Given the description of an element on the screen output the (x, y) to click on. 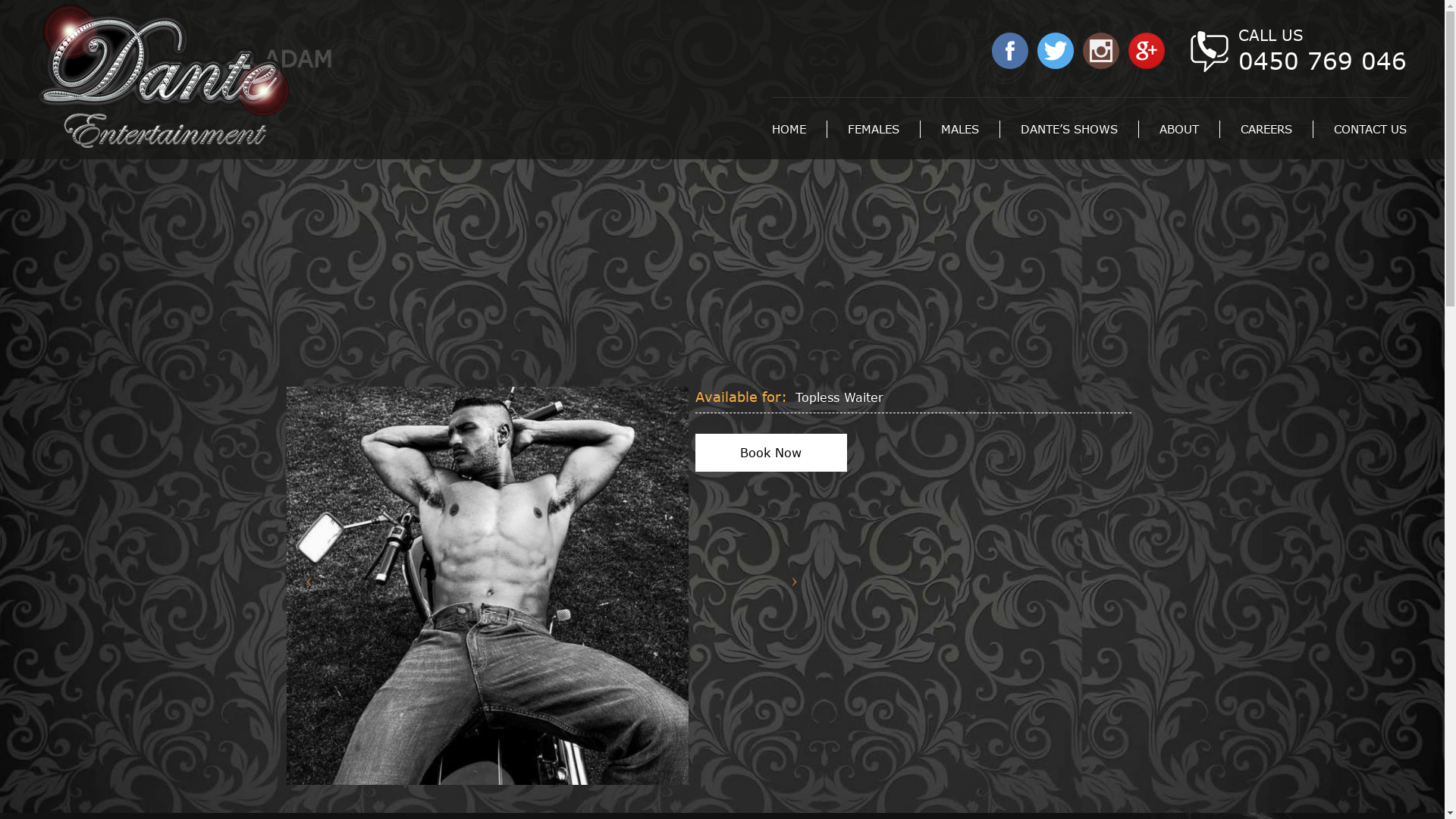
Adam Adelaide Stripper Element type: hover (487, 585)
Twitter Element type: hover (1055, 50)
Instagram Element type: hover (1100, 50)
FEMALES Element type: text (873, 129)
Twitter Element type: hover (1059, 61)
Googleplus Element type: hover (1150, 61)
Book Now Element type: text (771, 452)
Googleplus Element type: hover (1146, 50)
Facebook Element type: hover (1009, 50)
ABOUT Element type: text (1179, 129)
0450 769 046 Element type: text (1322, 60)
DANTE ADULT ENTERTAINMENT AGENCY Element type: text (162, 75)
MALES Element type: text (960, 129)
Instagram Element type: hover (1105, 61)
HOME Element type: text (799, 129)
Facebook Element type: hover (1014, 61)
CAREERS Element type: text (1266, 129)
CONTACT US Element type: text (1359, 129)
